Given the description of an element on the screen output the (x, y) to click on. 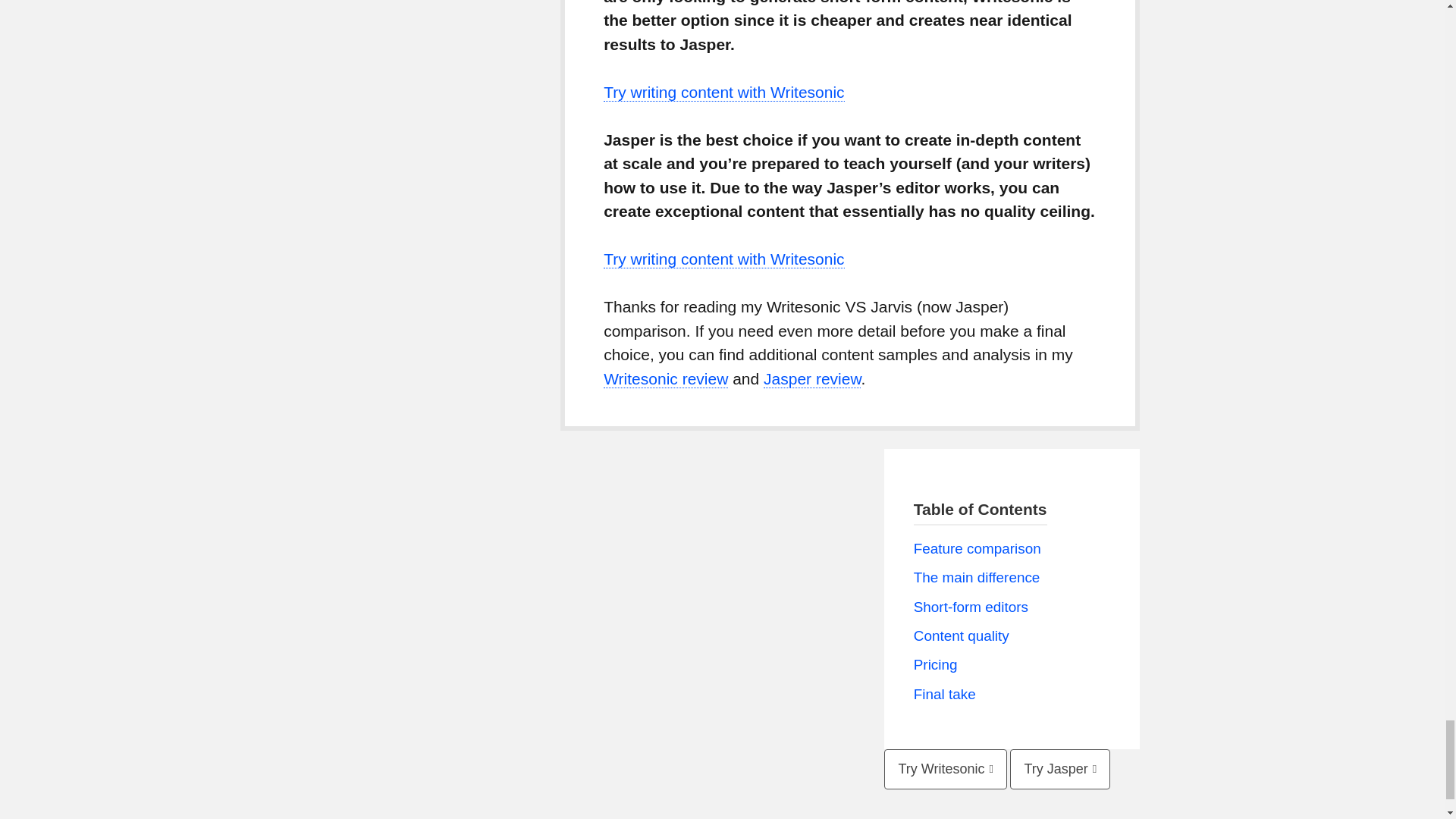
Jasper review (811, 379)
Final take (944, 693)
Try writing content with Writesonic (724, 92)
Writesonic review (666, 379)
Feature comparison (977, 548)
Try Jasper (1059, 769)
Try writing content with Writesonic (724, 259)
Short-form editors (970, 606)
Pricing (936, 664)
Content quality (961, 635)
The main difference (977, 577)
Try Writesonic (945, 769)
